Given the description of an element on the screen output the (x, y) to click on. 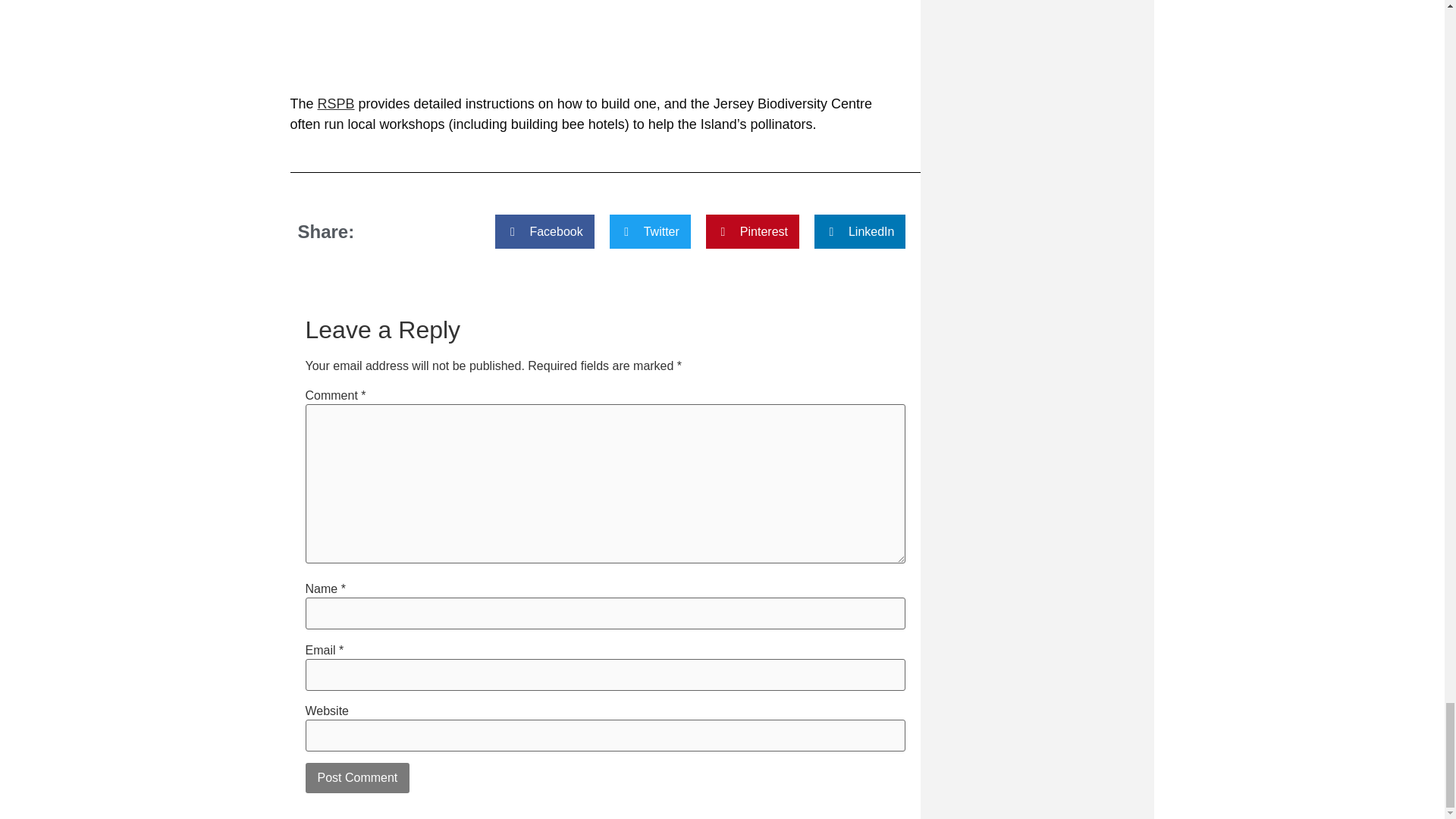
Post Comment (356, 777)
Post Comment (356, 777)
RSPB (336, 103)
